Given the description of an element on the screen output the (x, y) to click on. 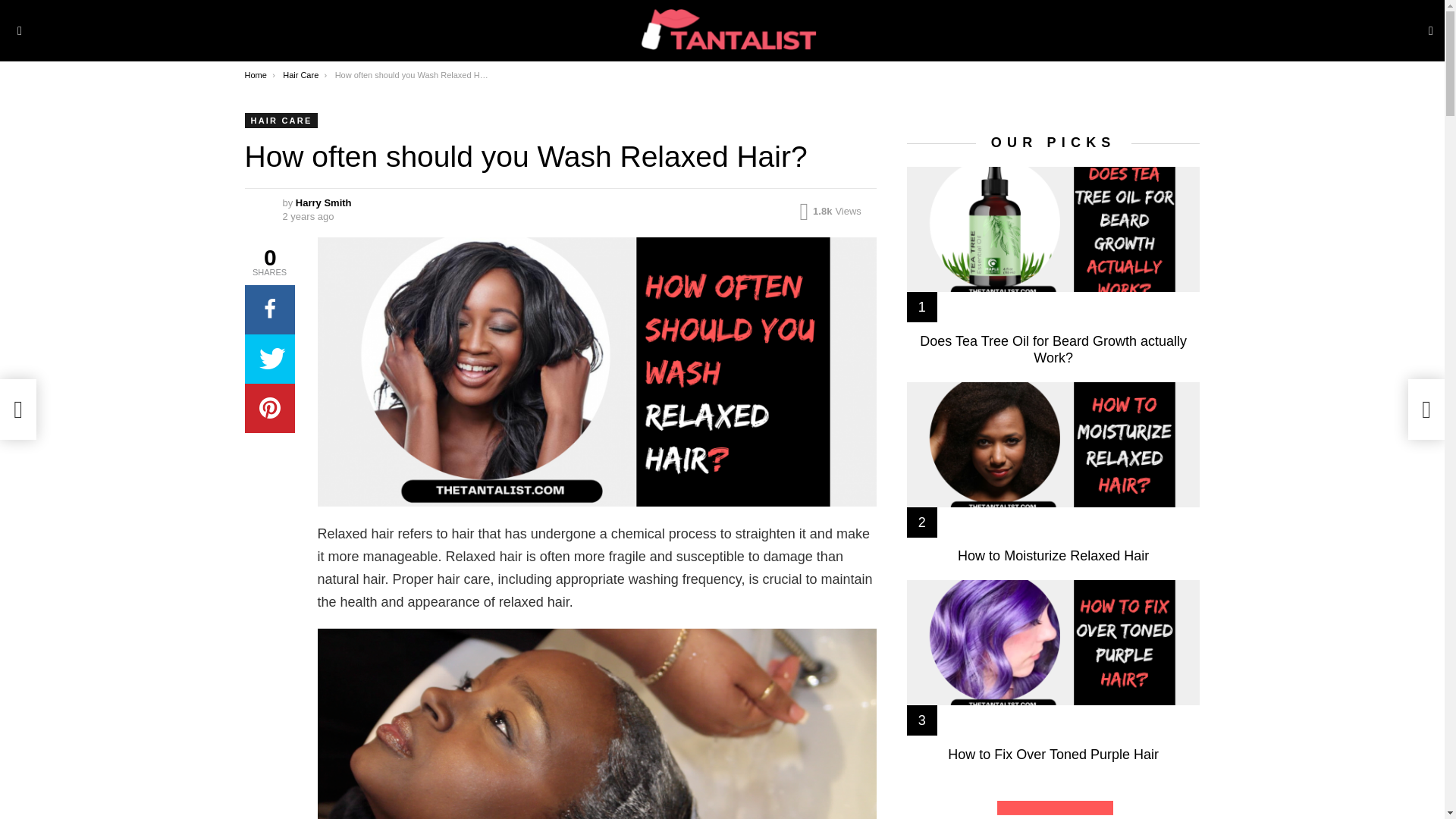
Menu (19, 31)
HAIR CARE (280, 120)
Harry Smith (323, 202)
Hair Care (300, 74)
Posts by Harry Smith (323, 202)
Home (255, 74)
February 13, 2023, 5:59 AM (307, 216)
